Given the description of an element on the screen output the (x, y) to click on. 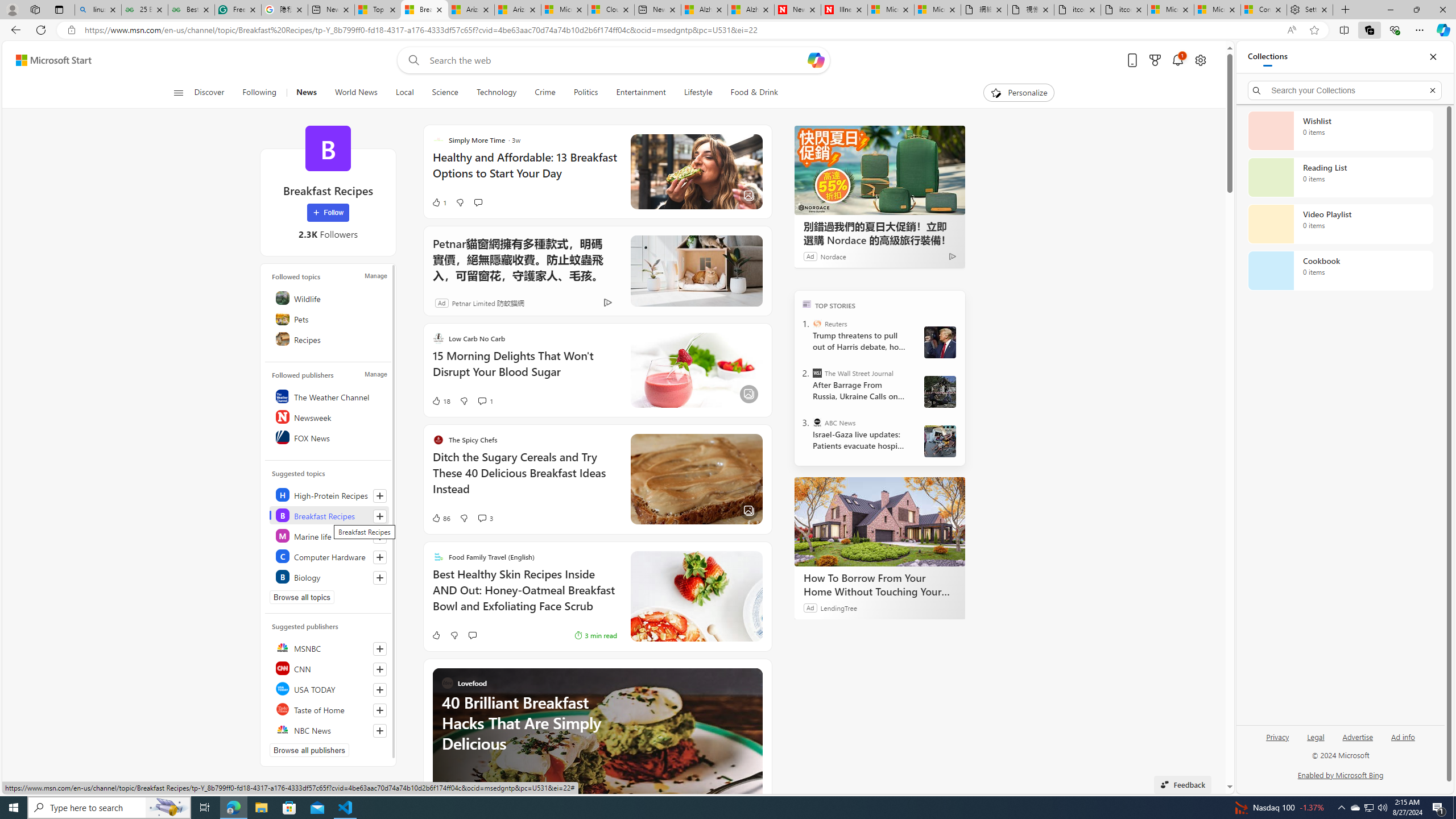
Politics (585, 92)
Pets (328, 318)
Ad info (1402, 736)
25 Basic Linux Commands For Beginners - GeeksforGeeks (144, 9)
